Given the description of an element on the screen output the (x, y) to click on. 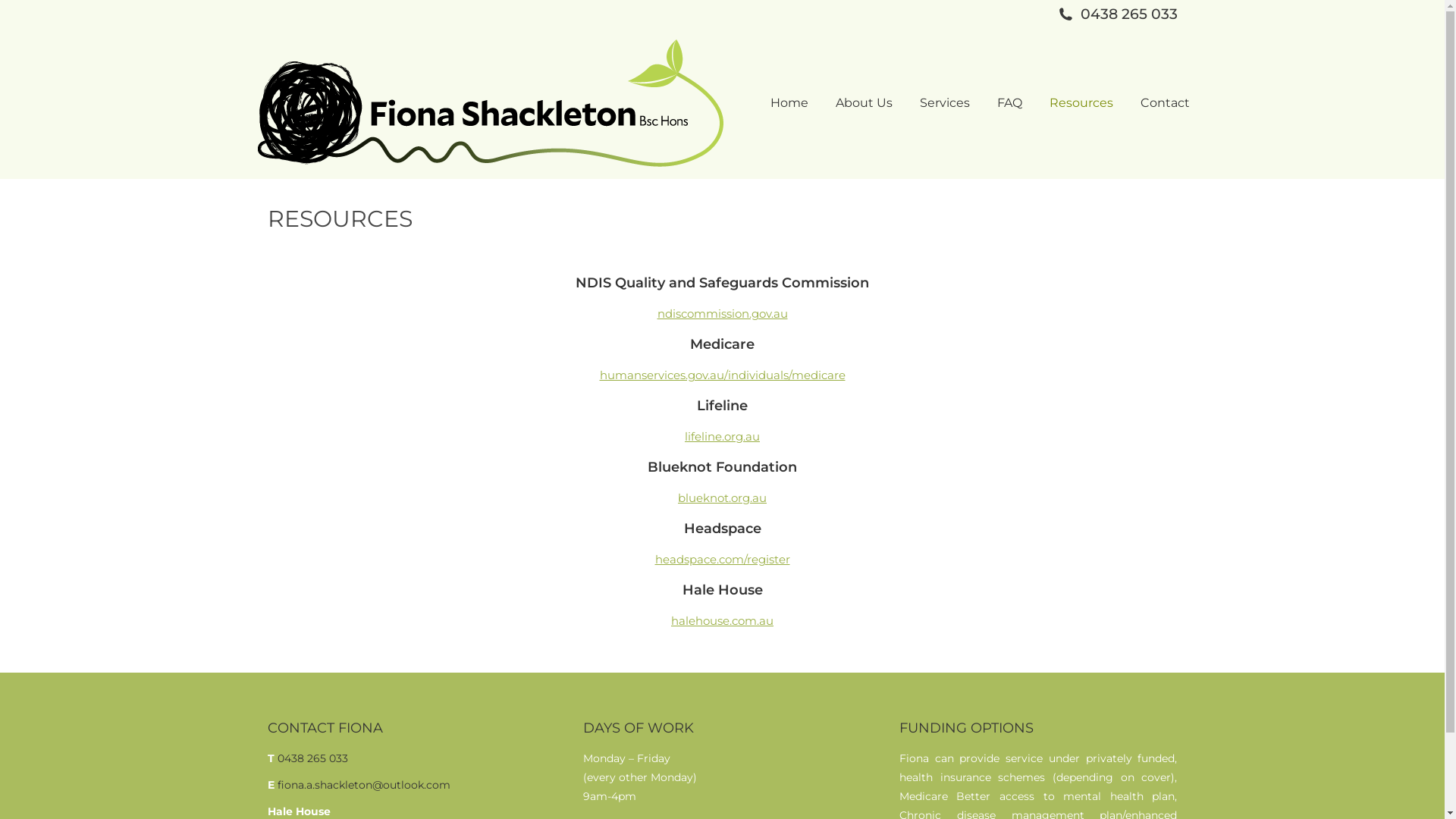
Contact Element type: text (1164, 102)
blueknot.org.au Element type: text (721, 497)
lifeline.org.au Element type: text (721, 436)
headspace.com/register Element type: text (722, 559)
Resources Element type: text (1081, 102)
humanservices.gov.au/individuals/medicare Element type: text (721, 374)
fiona.a.shackleton@outlook.com Element type: text (363, 784)
halehouse.com.au Element type: text (722, 620)
0438 265 033 Element type: text (312, 758)
FAQ Element type: text (1008, 102)
About Us Element type: text (863, 102)
Home Element type: text (789, 102)
ndiscommission.gov.au Element type: text (721, 313)
Services Element type: text (944, 102)
